Given the description of an element on the screen output the (x, y) to click on. 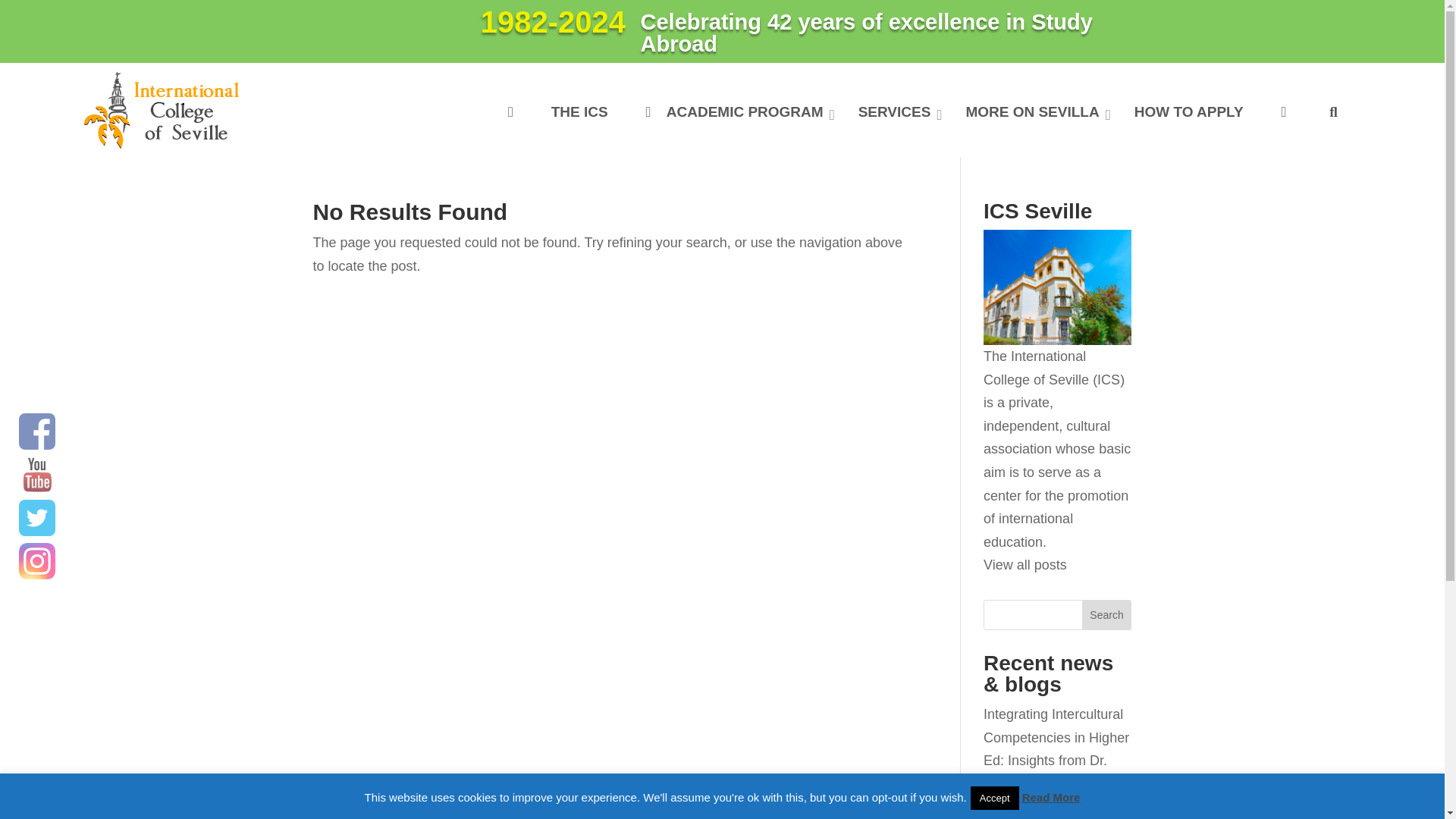
Visit Our Facebook Page (36, 431)
View Our Twitter Feed (36, 517)
MORE ON SEVILLA (1033, 112)
HOW TO APPLY (1188, 112)
THE ICS (579, 112)
Visit Our Instagram (36, 560)
ACADEMIC PROGRAM (733, 112)
Search (1106, 614)
SERVICES (896, 112)
